Given the description of an element on the screen output the (x, y) to click on. 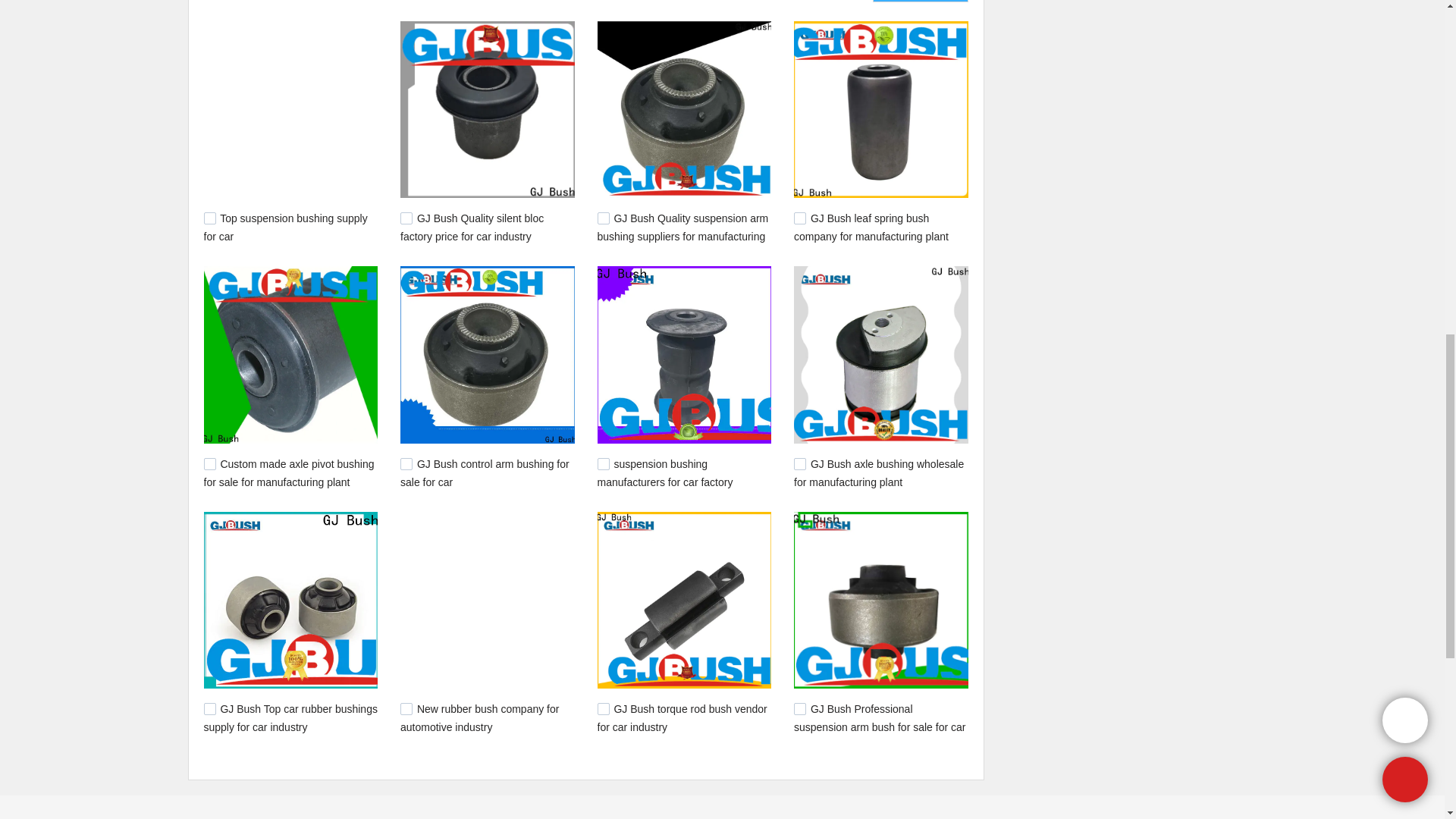
GJ Bush control arm bushing for sale for car (484, 472)
530 (799, 708)
Top suspension bushing supply for car (284, 227)
813 (209, 463)
1044 (209, 218)
suspension bushing manufacturers for car factory (664, 472)
GJ Bush Top car rubber bushings supply for car industry (290, 717)
592 (406, 708)
